Given the description of an element on the screen output the (x, y) to click on. 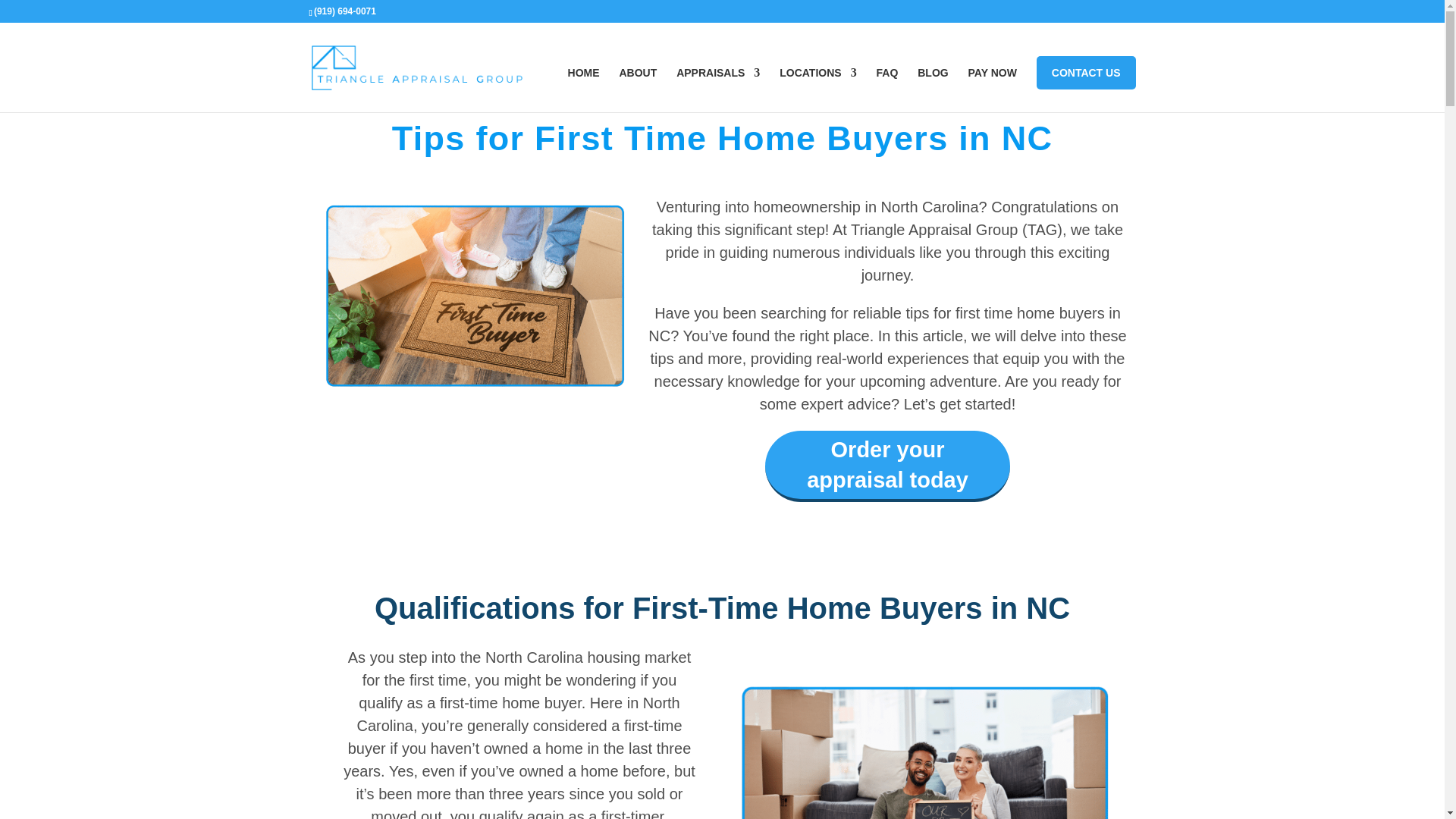
LOCATIONS (817, 89)
APPRAISALS (887, 466)
PAY NOW (718, 89)
CONTACT US (992, 89)
